Given the description of an element on the screen output the (x, y) to click on. 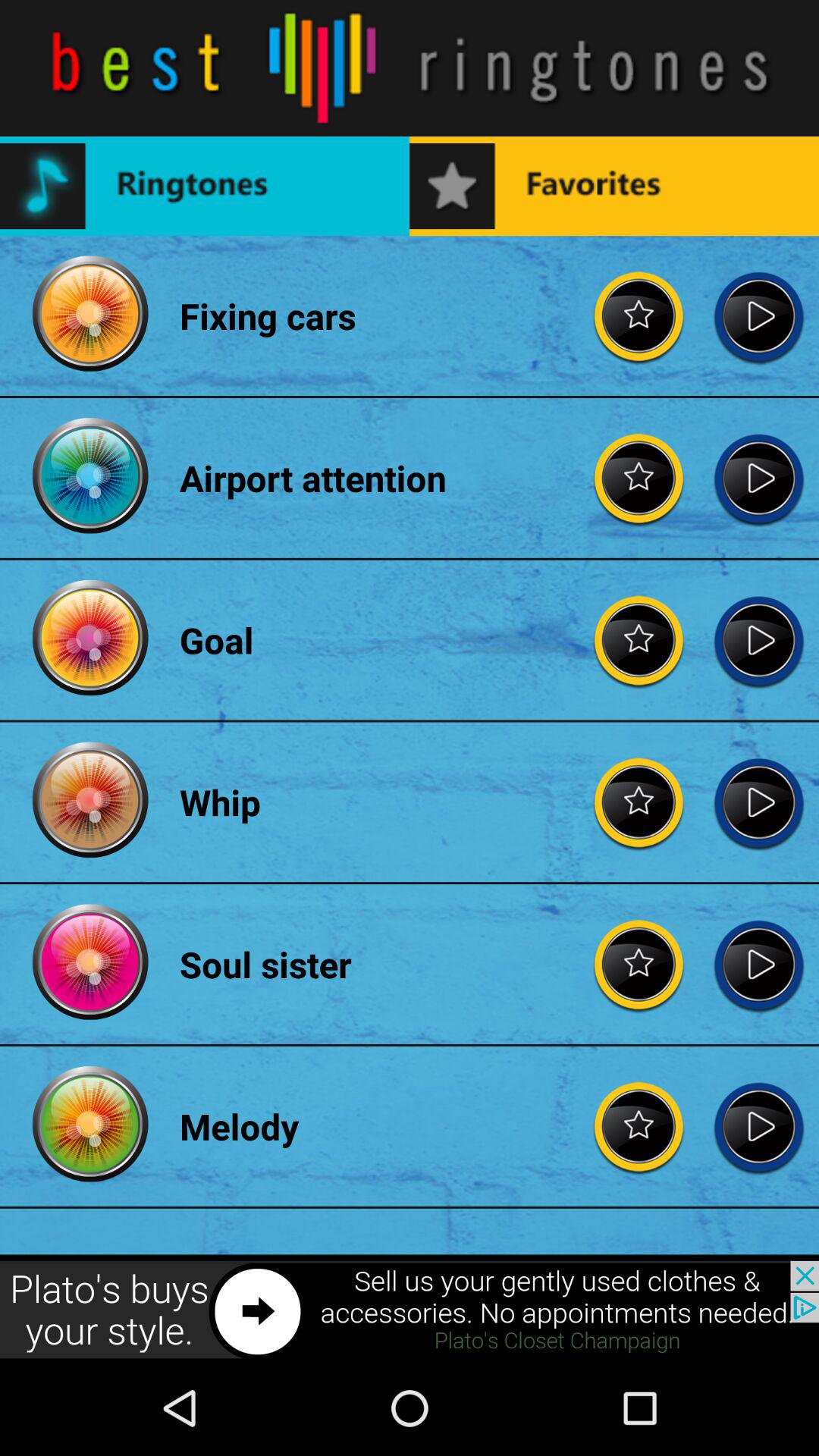
play the ringtone (758, 639)
